Given the description of an element on the screen output the (x, y) to click on. 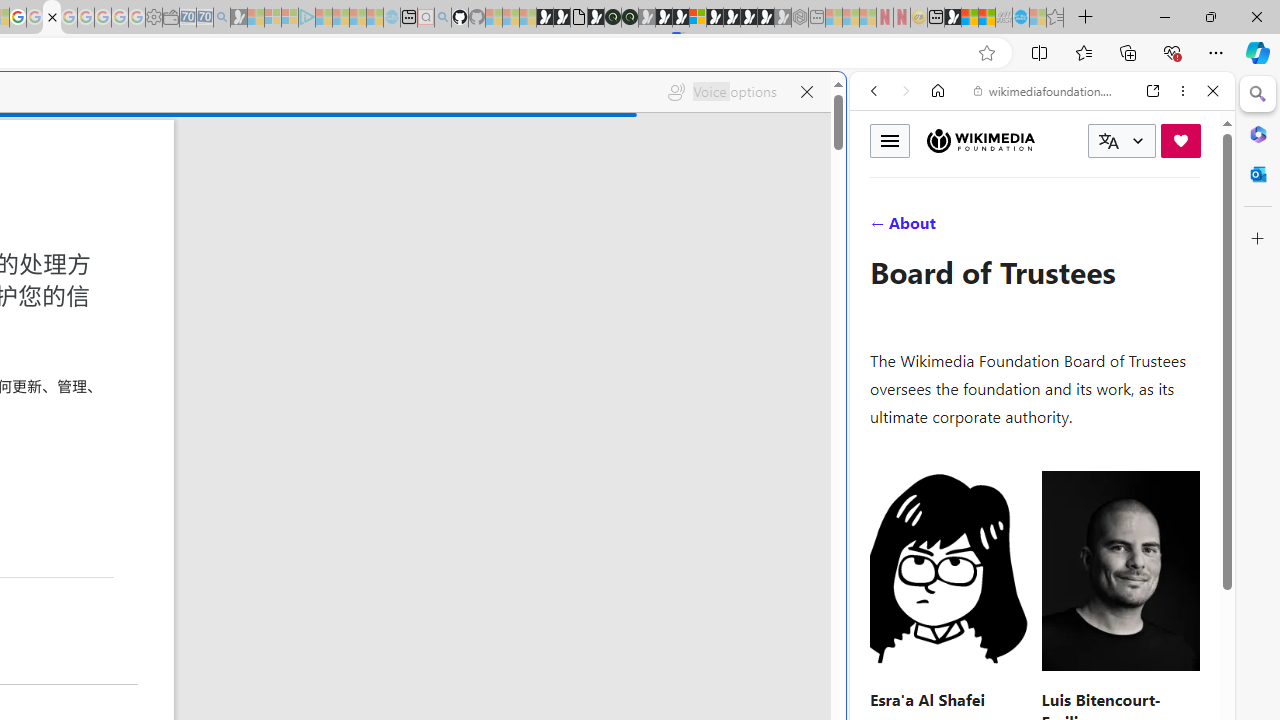
Future Focus Report 2024 (629, 17)
